Given the description of an element on the screen output the (x, y) to click on. 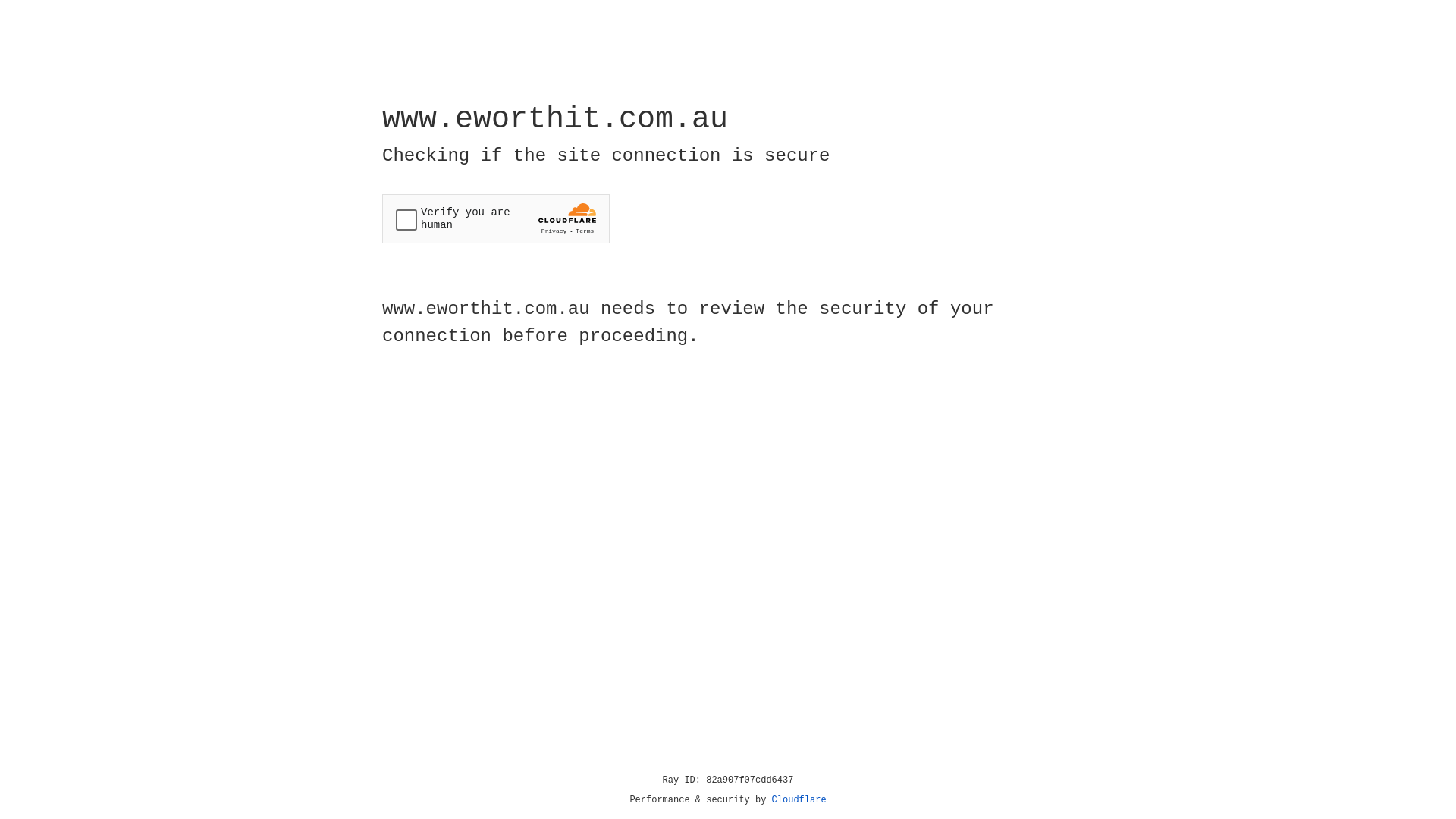
Cloudflare Element type: text (798, 799)
Widget containing a Cloudflare security challenge Element type: hover (495, 218)
